Given the description of an element on the screen output the (x, y) to click on. 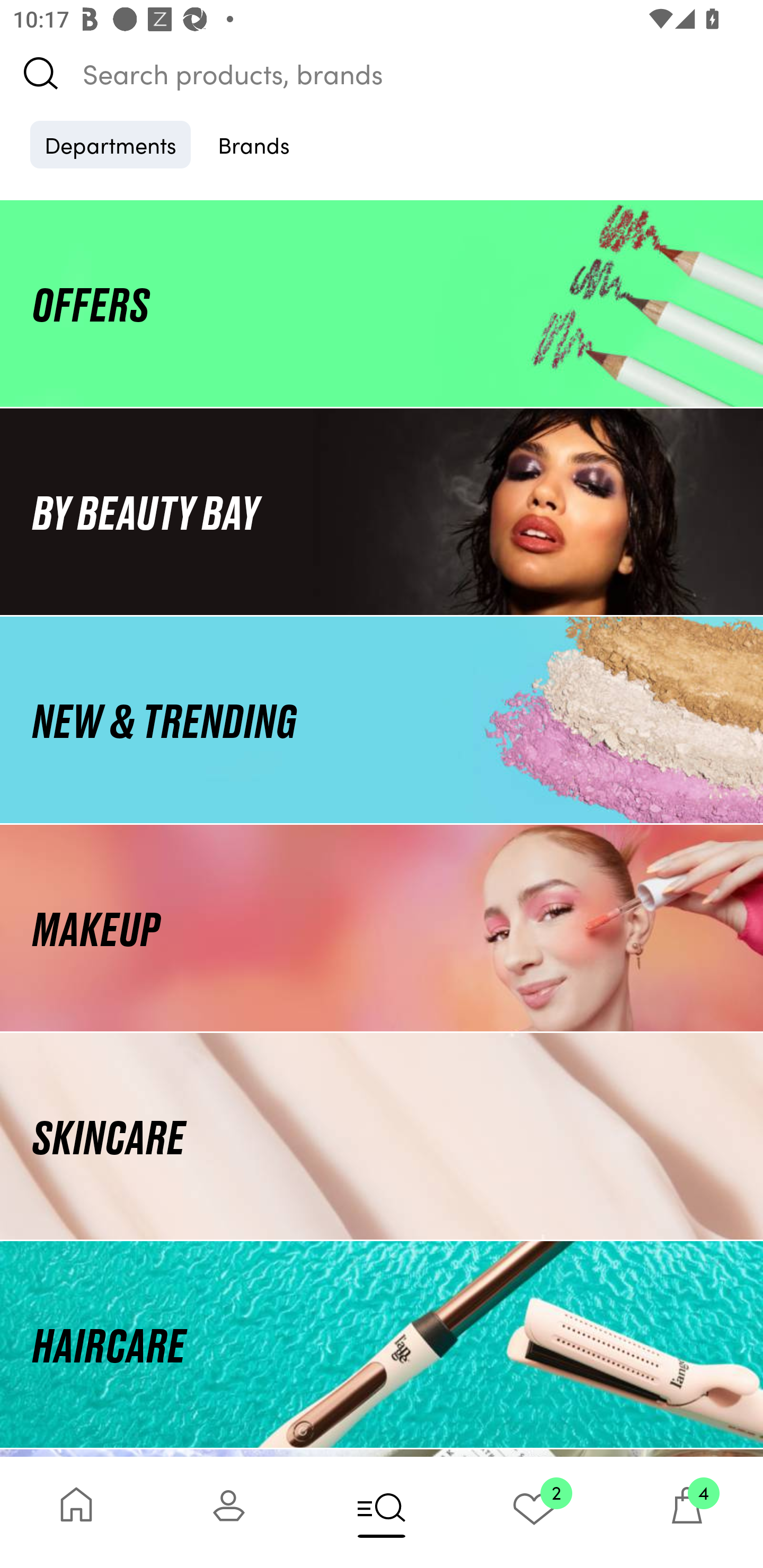
Search products, brands (381, 72)
Departments (110, 143)
Brands (253, 143)
OFFERS (381, 303)
BY BEAUTY BAY (381, 510)
NEW & TRENDING (381, 719)
MAKEUP (381, 927)
SKINCARE (381, 1136)
HAIRCARE (381, 1344)
2 (533, 1512)
4 (686, 1512)
